Given the description of an element on the screen output the (x, y) to click on. 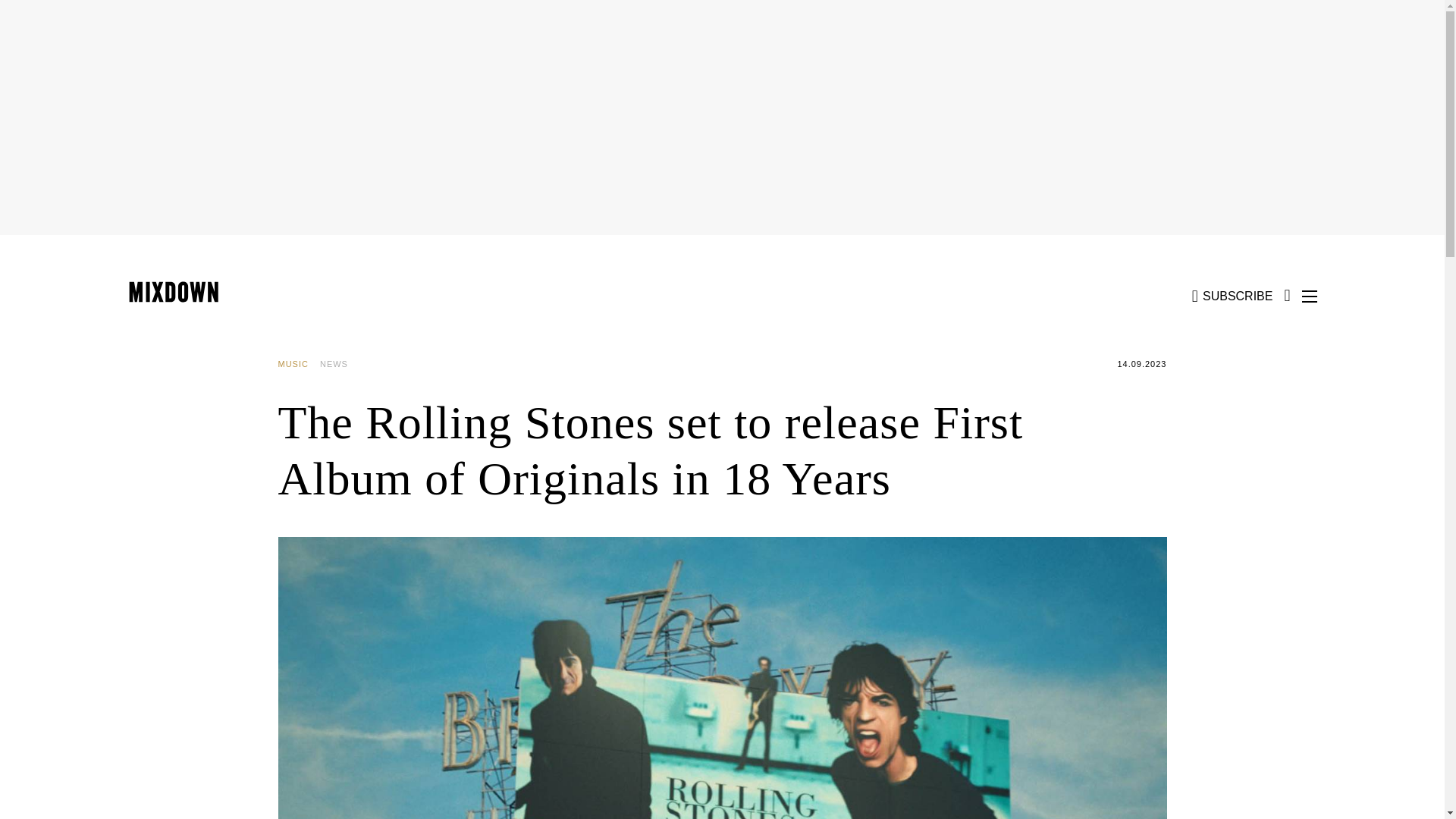
NEWS (339, 364)
MUSIC (298, 364)
